Given the description of an element on the screen output the (x, y) to click on. 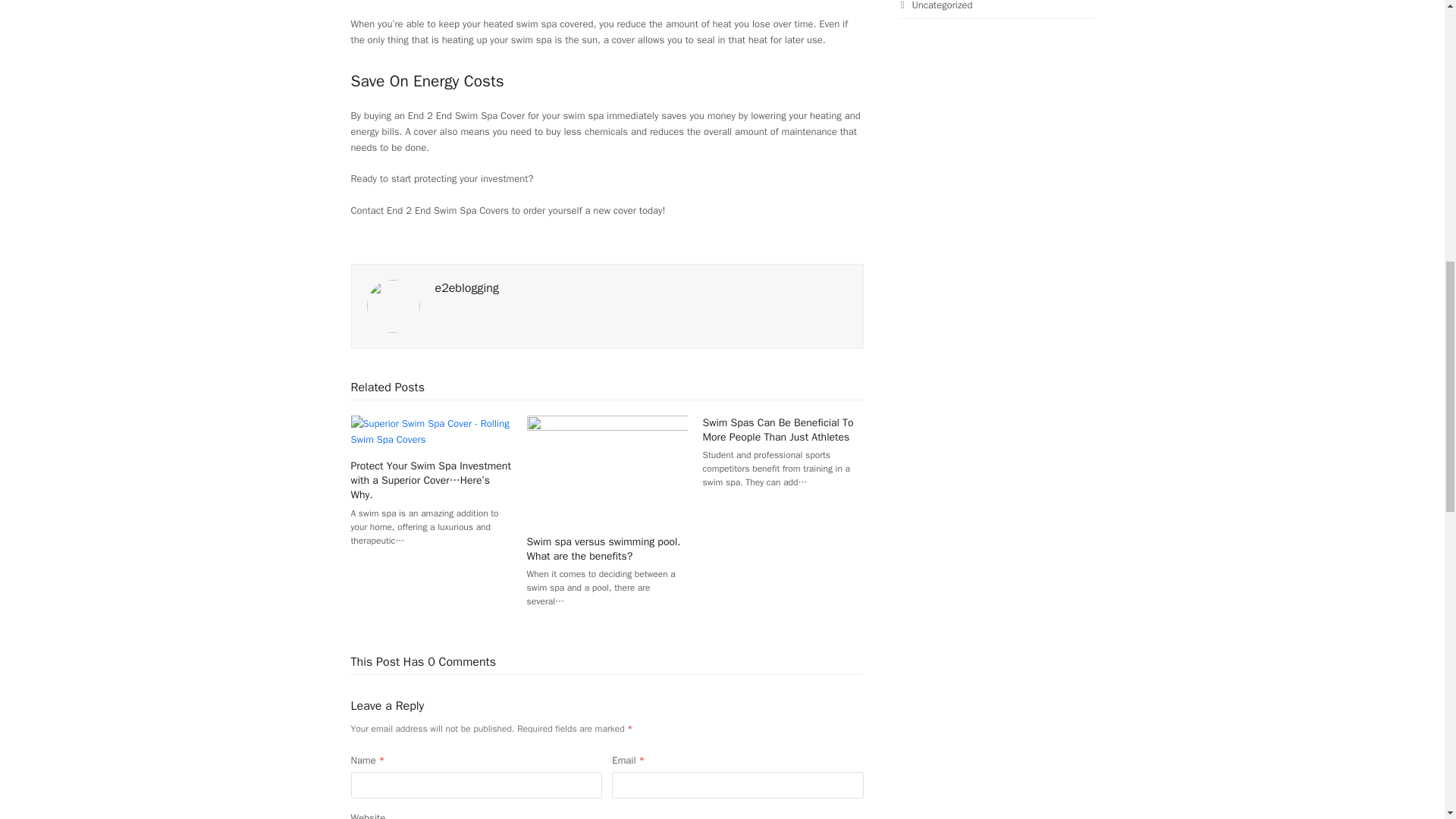
e2eblogging (467, 287)
Visit Author Page (467, 287)
Swim spa versus swimming pool. What are the benefits? (607, 468)
Visit Author Page (393, 305)
